Given the description of an element on the screen output the (x, y) to click on. 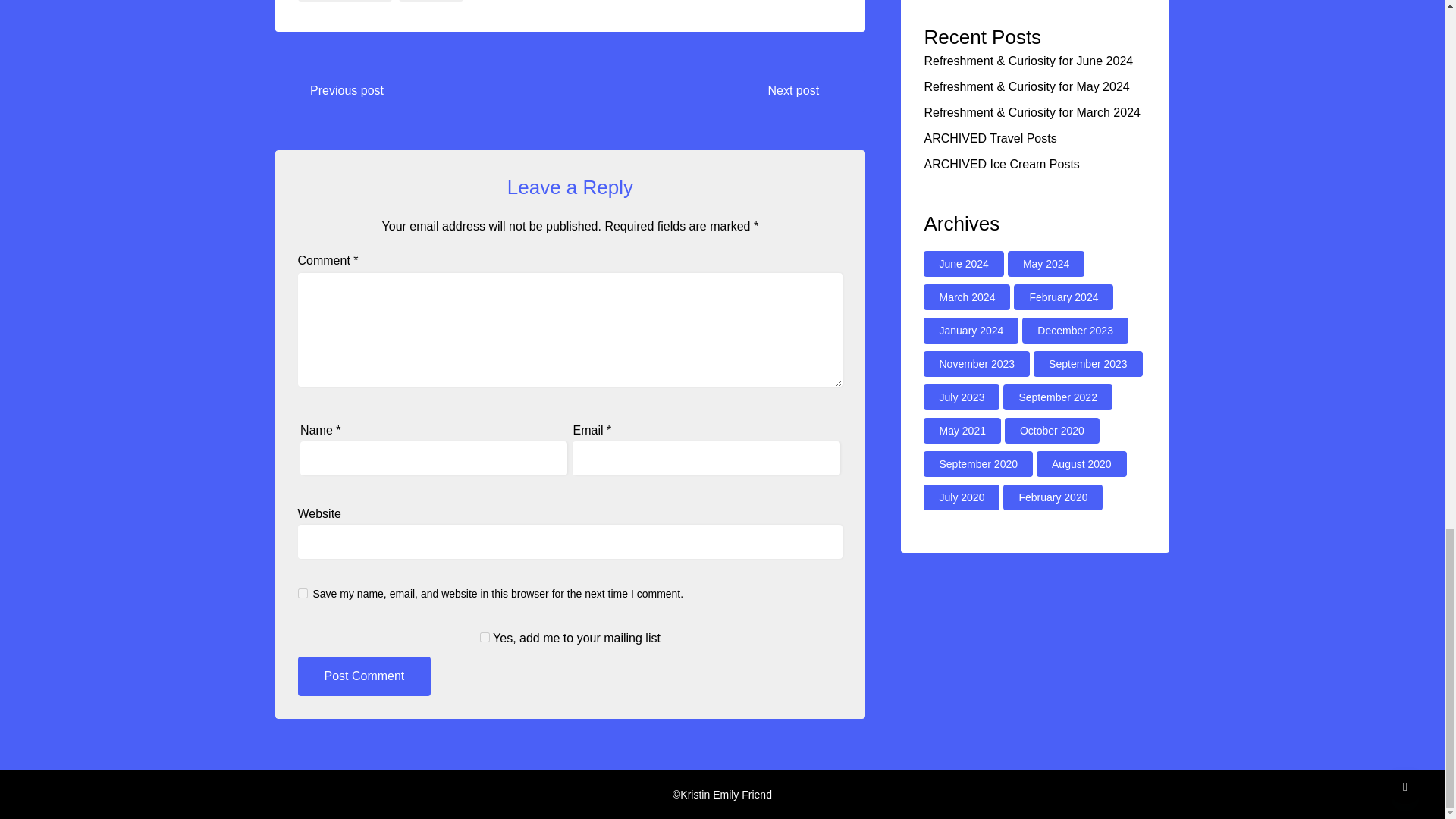
yes (302, 593)
2023 Canada (344, 0)
Next post (792, 90)
Post Comment (363, 676)
Previous post (347, 90)
Travels (430, 0)
Post Comment (363, 676)
1 (484, 637)
